Given the description of an element on the screen output the (x, y) to click on. 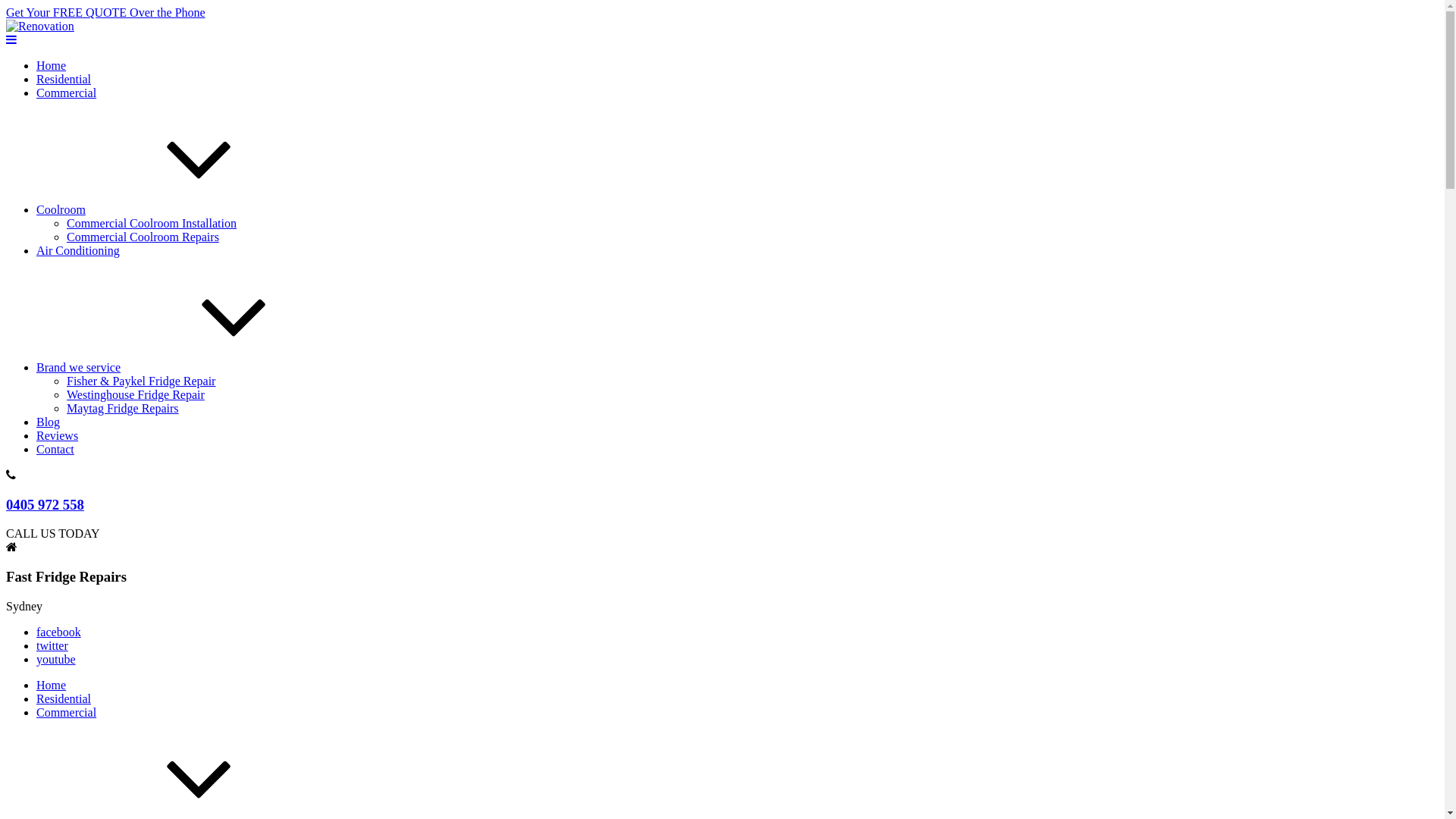
Coolroom Element type: text (174, 209)
Residential Element type: text (63, 78)
Get Your FREE QUOTE Over the Phone Element type: text (105, 12)
Commercial Coolroom Repairs Element type: text (142, 236)
Commercial Coolroom Installation Element type: text (151, 222)
Home Element type: text (50, 684)
Maytag Fridge Repairs Element type: text (122, 407)
Commercial Element type: text (66, 92)
Commercial Element type: text (66, 712)
Brand we service Element type: text (192, 366)
Residential Element type: text (63, 698)
0405 972 558 Element type: text (45, 504)
Fisher & Paykel Fridge Repair Element type: text (140, 380)
twitter Element type: text (52, 645)
Westinghouse Fridge Repair Element type: text (135, 394)
Contact Element type: text (55, 448)
Reviews Element type: text (57, 435)
Home Element type: text (50, 65)
Blog Element type: text (47, 421)
Air Conditioning Element type: text (77, 250)
youtube Element type: text (55, 658)
facebook Element type: text (58, 631)
